Given the description of an element on the screen output the (x, y) to click on. 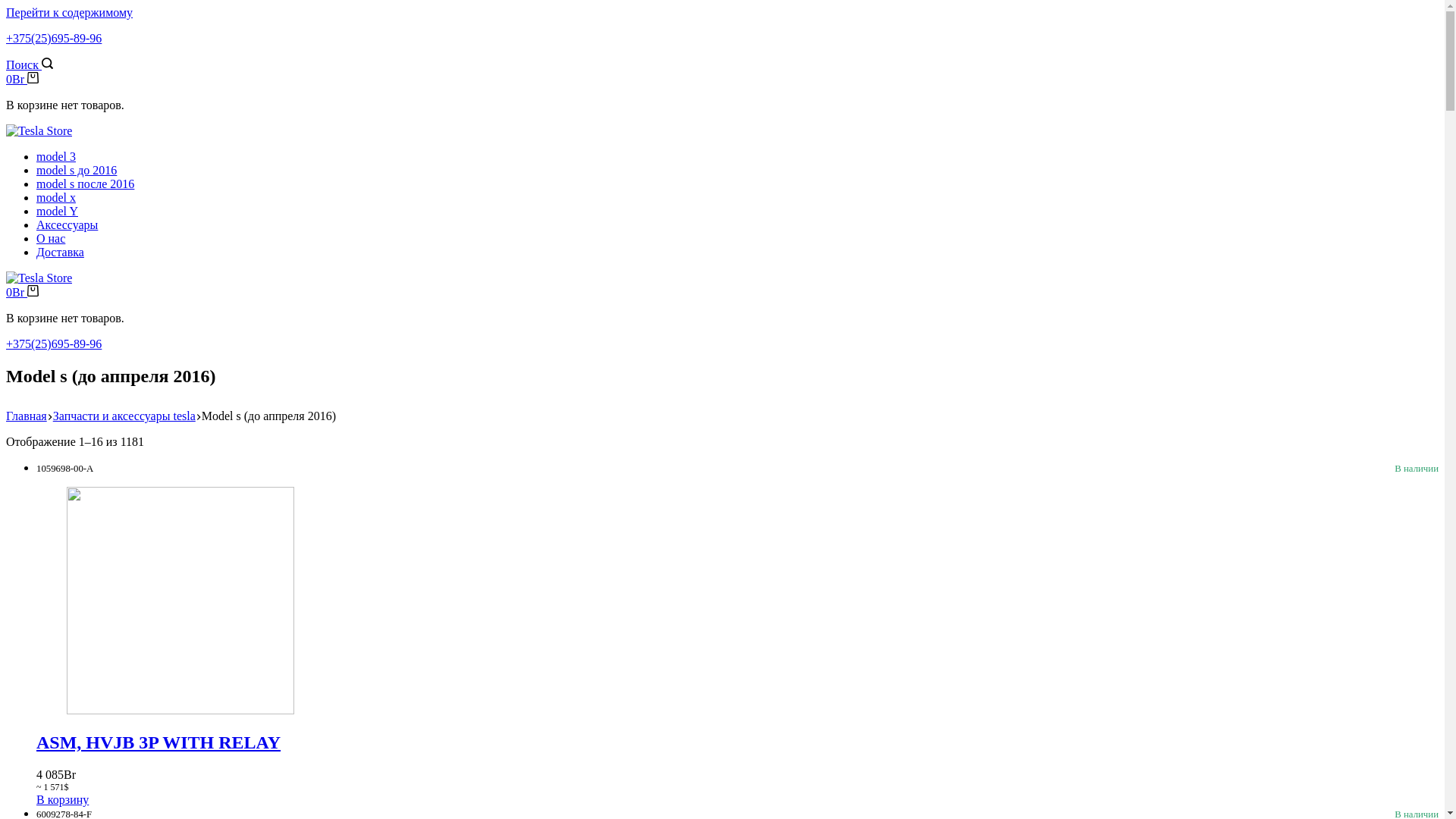
+375(25)695-89-96 Element type: text (53, 343)
ASM, HVJB 3P WITH RELAY Element type: text (737, 742)
model x Element type: text (55, 197)
+375(25)695-89-96 Element type: text (53, 37)
model Y Element type: text (57, 210)
0Br Element type: text (22, 78)
model 3 Element type: text (55, 156)
0Br Element type: text (22, 291)
